Given the description of an element on the screen output the (x, y) to click on. 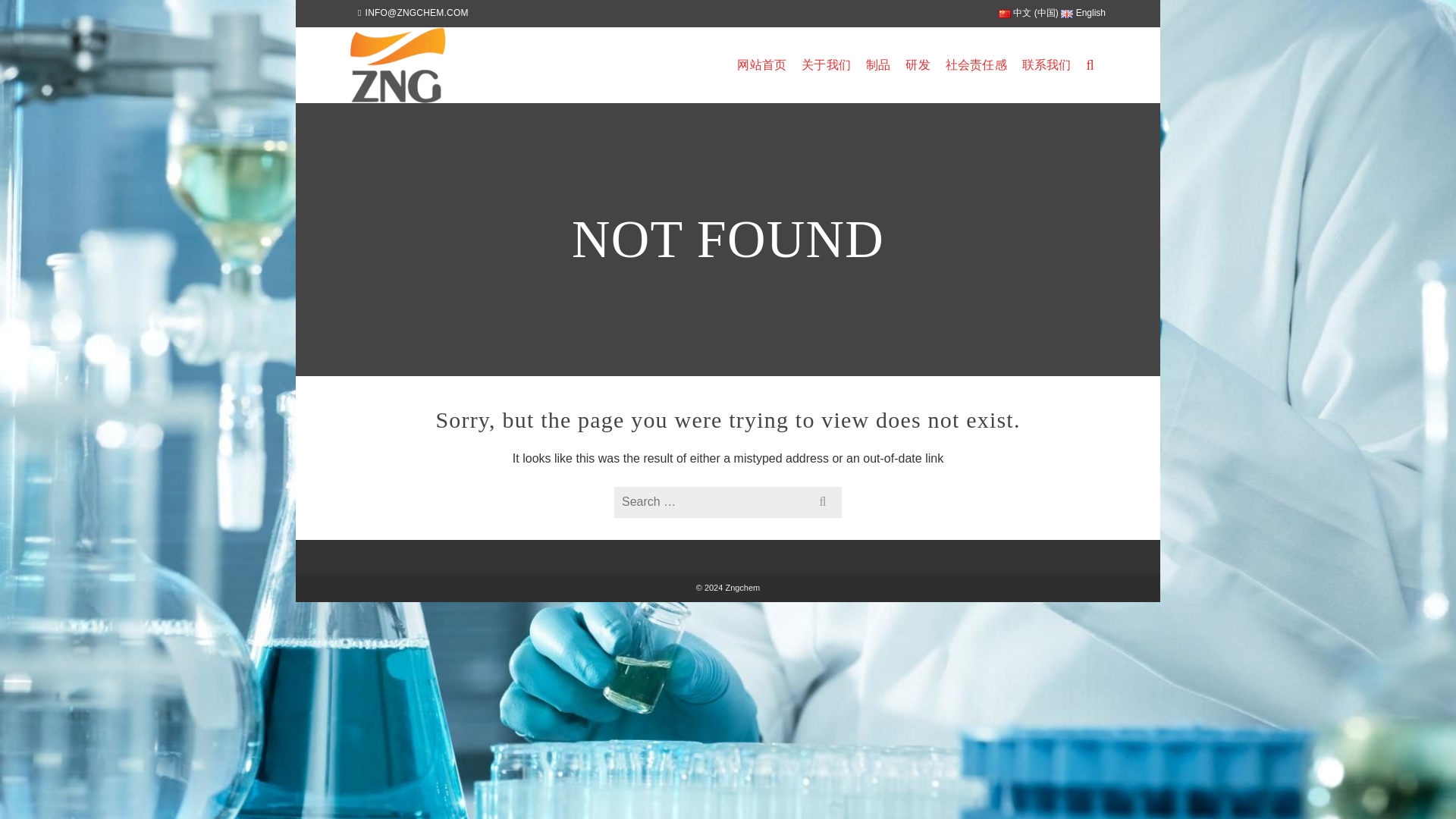
English (1083, 9)
